Given the description of an element on the screen output the (x, y) to click on. 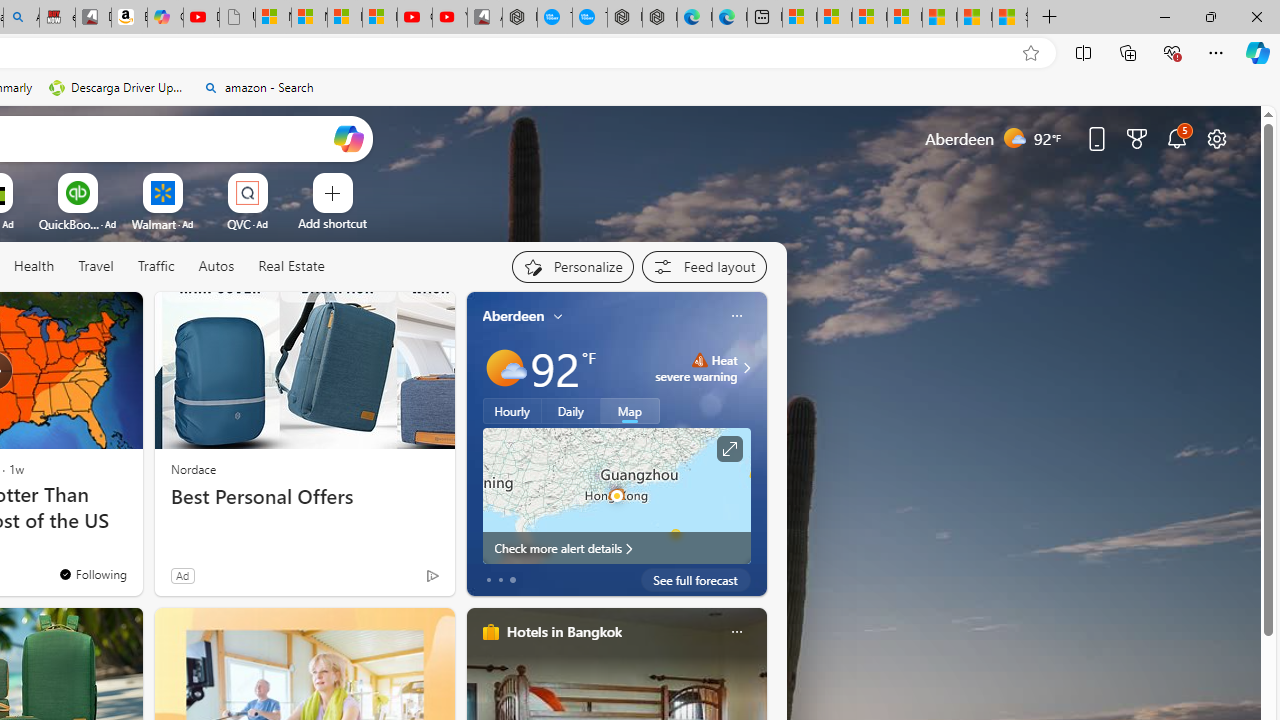
tab-1 (500, 579)
Aberdeen (513, 315)
New tab (764, 17)
Nordace (193, 468)
Add a site (332, 223)
Hotels in Bangkok (563, 631)
Copilot (165, 17)
Microsoft rewards (1137, 138)
Split screen (1083, 52)
Collections (1128, 52)
Nordace - Nordace has arrived Hong Kong (659, 17)
Microsoft Start (939, 17)
